Given the description of an element on the screen output the (x, y) to click on. 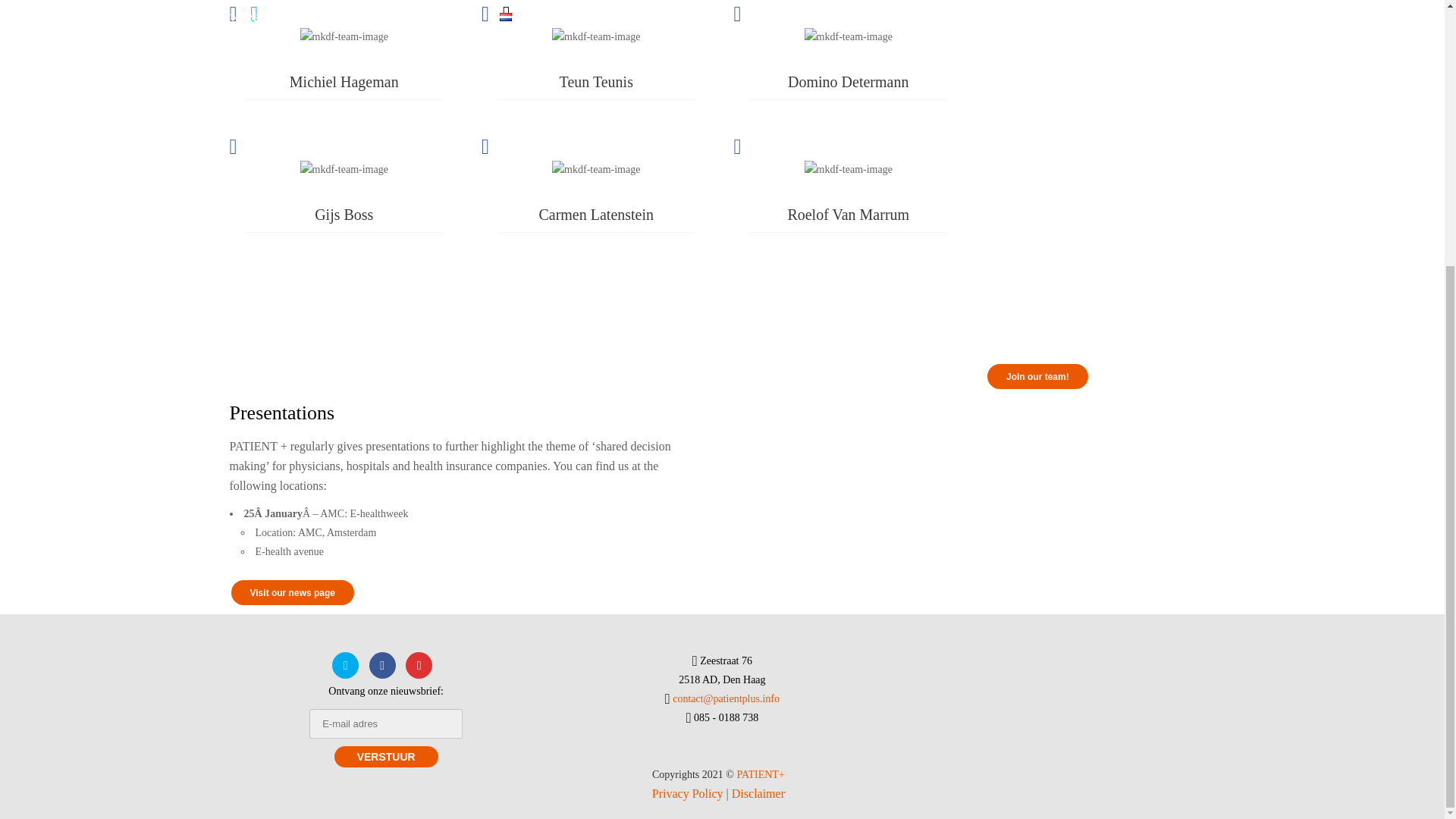
Visit our news page (291, 592)
Verstuur (386, 756)
U (973, 25)
Join our team! (1037, 376)
